Given the description of an element on the screen output the (x, y) to click on. 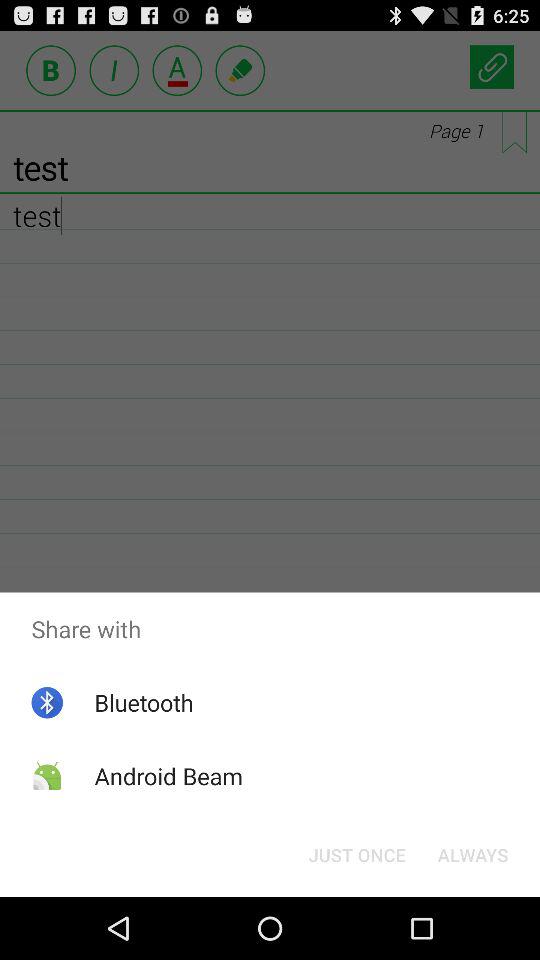
choose item to the left of always button (356, 854)
